Given the description of an element on the screen output the (x, y) to click on. 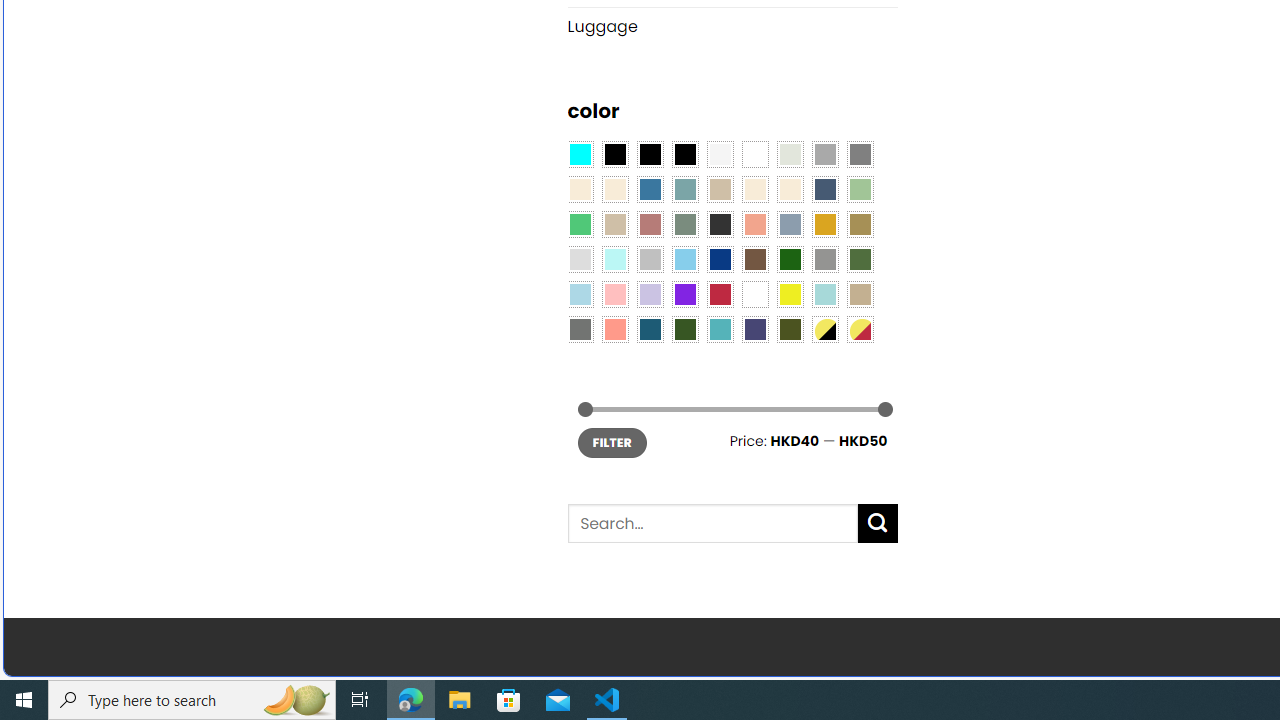
Silver (650, 259)
Emerald Green (579, 224)
Ash Gray (789, 154)
Light Gray (579, 259)
Black (650, 154)
Dark Green (789, 259)
Mint (614, 259)
Gray (824, 259)
Caramel (755, 190)
Aqua Blue (579, 154)
Blue (650, 190)
FILTER (612, 442)
Peach Pink (614, 329)
Aqua (824, 295)
